Given the description of an element on the screen output the (x, y) to click on. 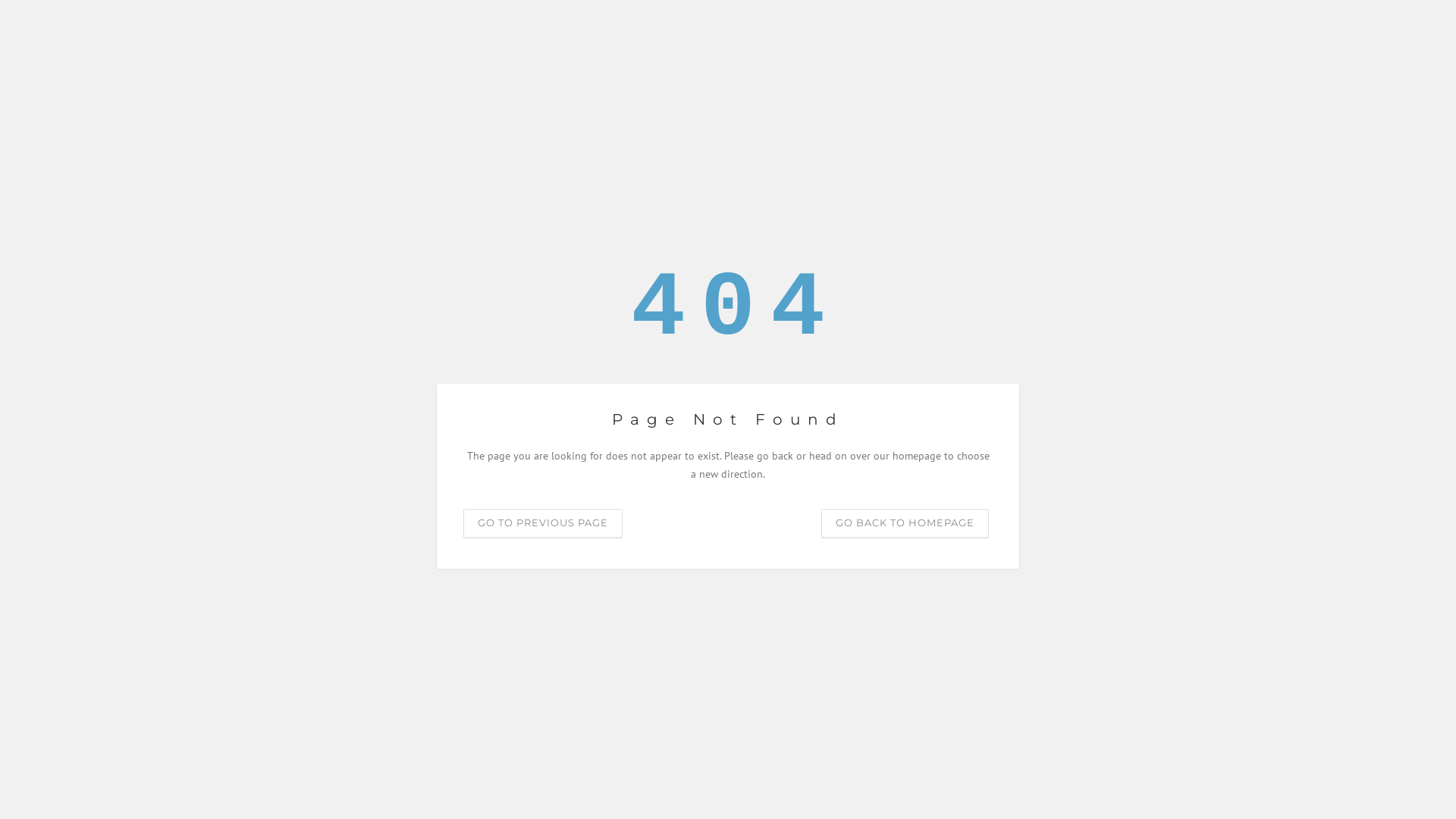
GO BACK TO HOMEPAGE Element type: text (904, 523)
GO TO PREVIOUS PAGE Element type: text (542, 523)
